Given the description of an element on the screen output the (x, y) to click on. 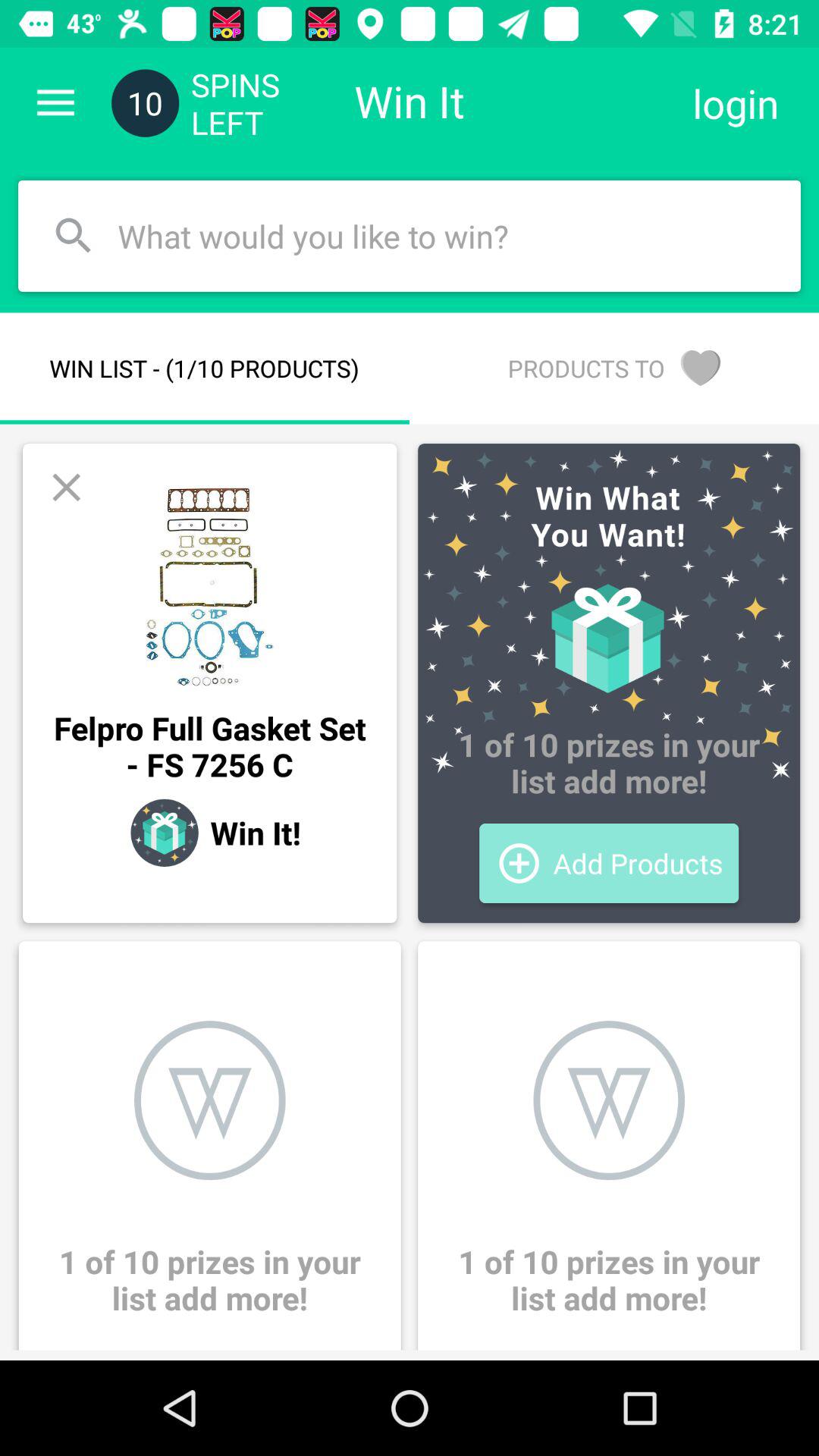
swipe until login icon (735, 102)
